Given the description of an element on the screen output the (x, y) to click on. 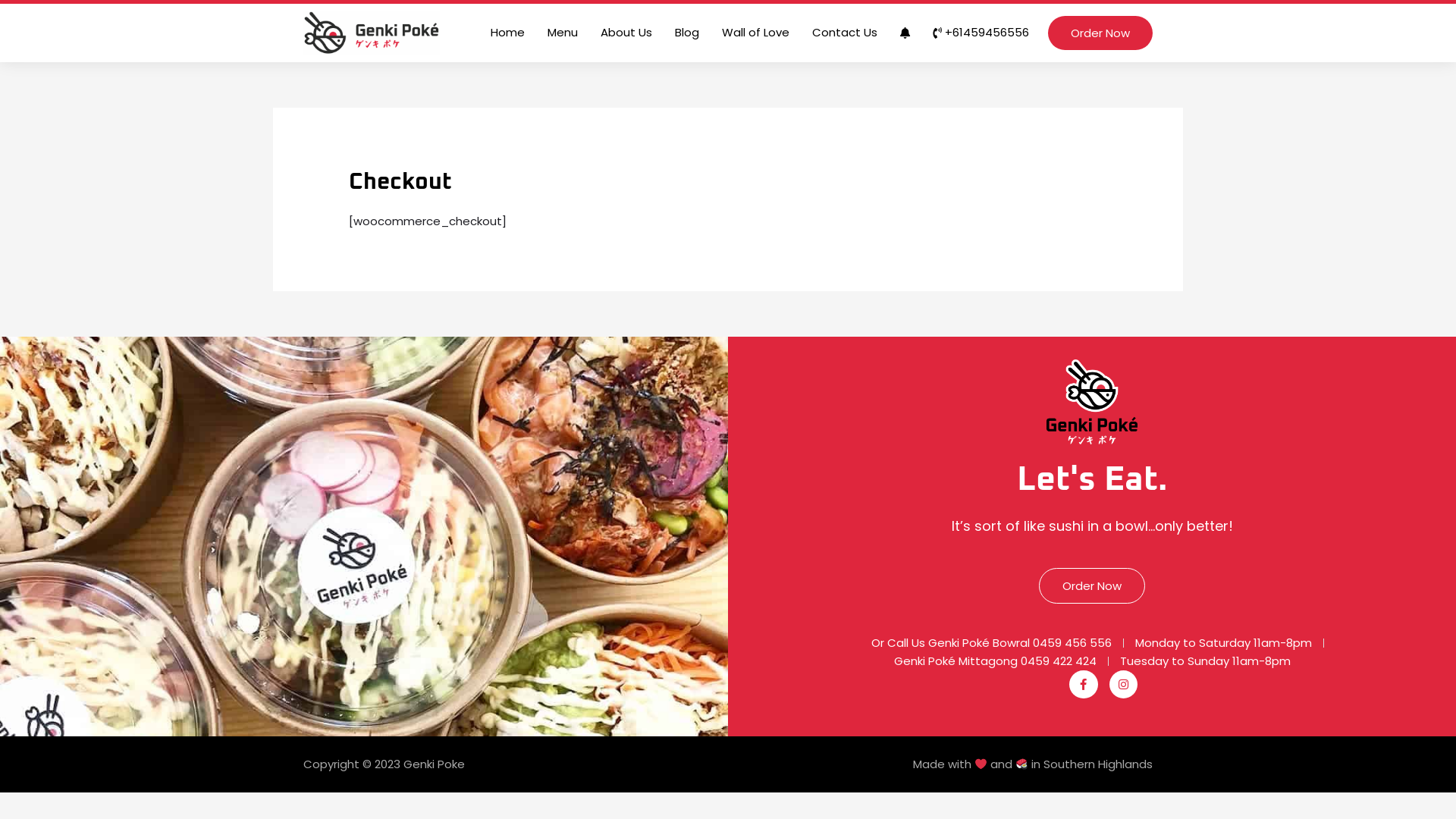
Order Now Element type: text (1091, 585)
Monday to Saturday 11am-8pm Element type: text (1223, 642)
Contact Us Element type: text (844, 32)
Wall of Love Element type: text (755, 32)
Menu Element type: text (562, 32)
+61459456556 Element type: text (980, 32)
Tuesday to Sunday 11am-8pm Element type: text (1204, 661)
Order Now Element type: text (1100, 32)
Home Element type: text (507, 32)
About Us Element type: text (626, 32)
Blog Element type: text (686, 32)
